Given the description of an element on the screen output the (x, y) to click on. 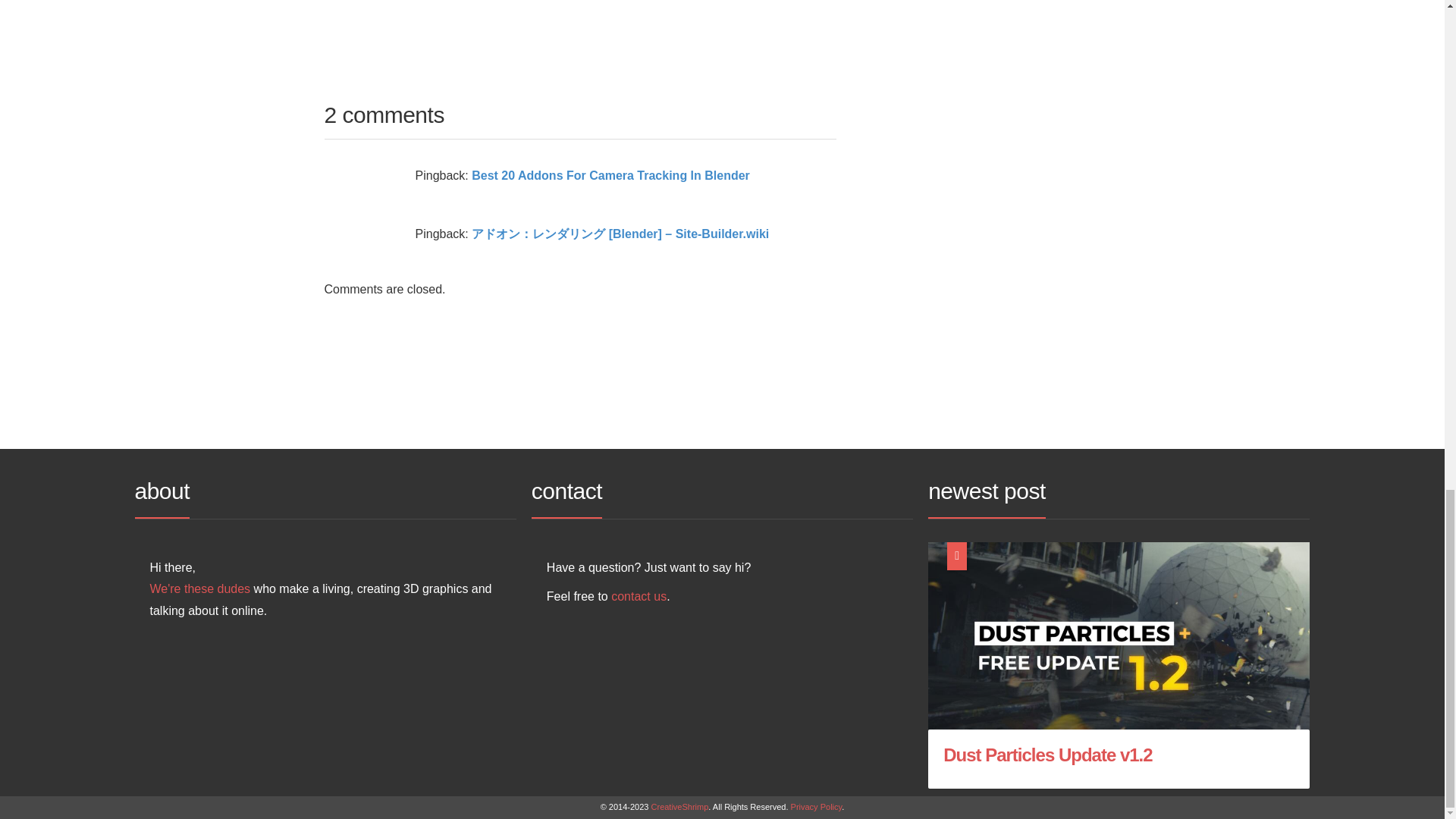
CreativeShrimp (679, 806)
We're these dudes (199, 588)
Dust Particles Update v1.2 (1047, 754)
contact us (638, 595)
Best 20 Addons For Camera Tracking In Blender (610, 174)
